Given the description of an element on the screen output the (x, y) to click on. 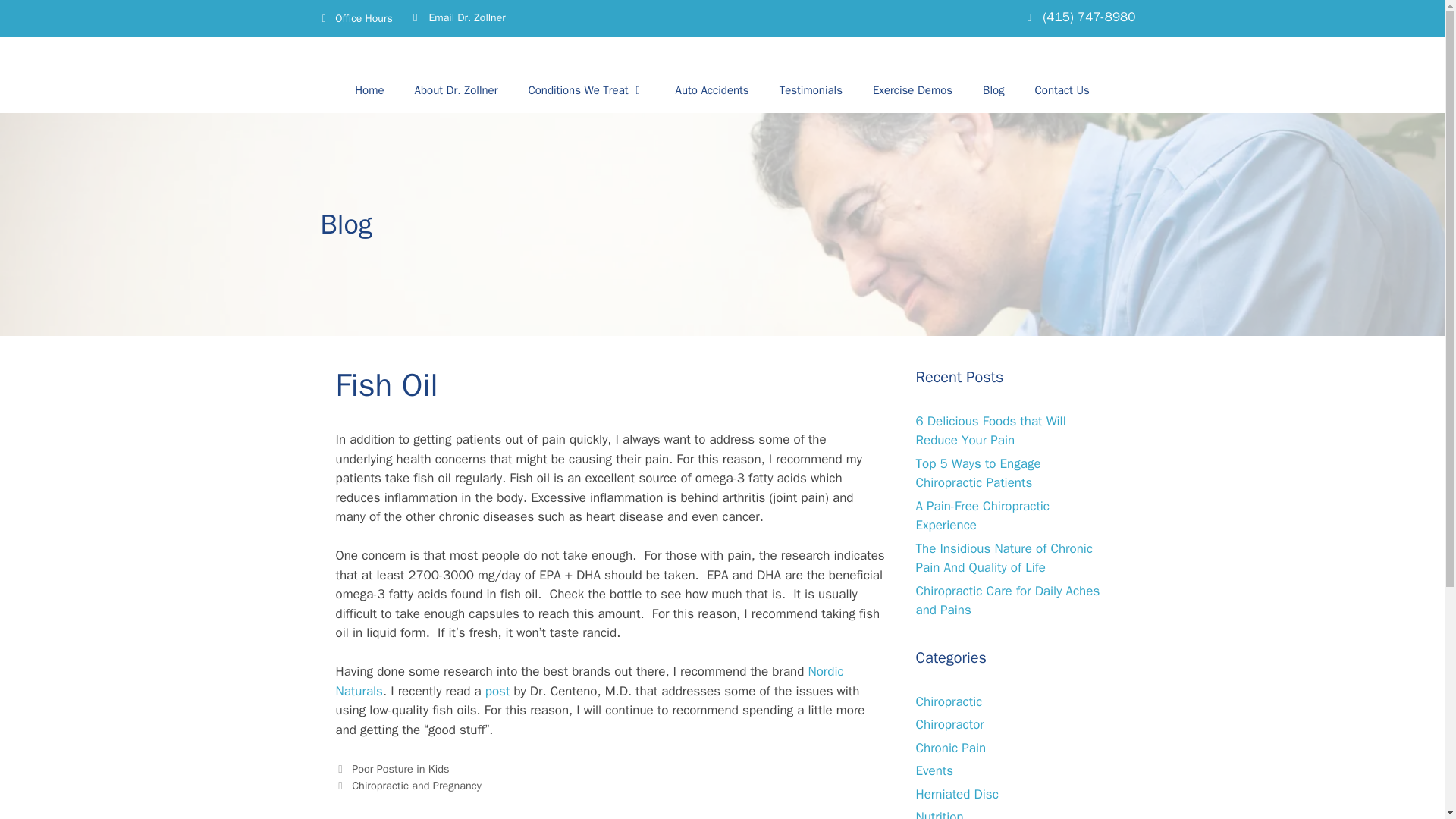
Nordic Naturals (588, 681)
Office Hours (357, 17)
Email Dr. Zollner (466, 17)
About Dr. Zollner (455, 90)
Conditions We Treat (585, 90)
Centeno post (497, 691)
Home (368, 90)
